Given the description of an element on the screen output the (x, y) to click on. 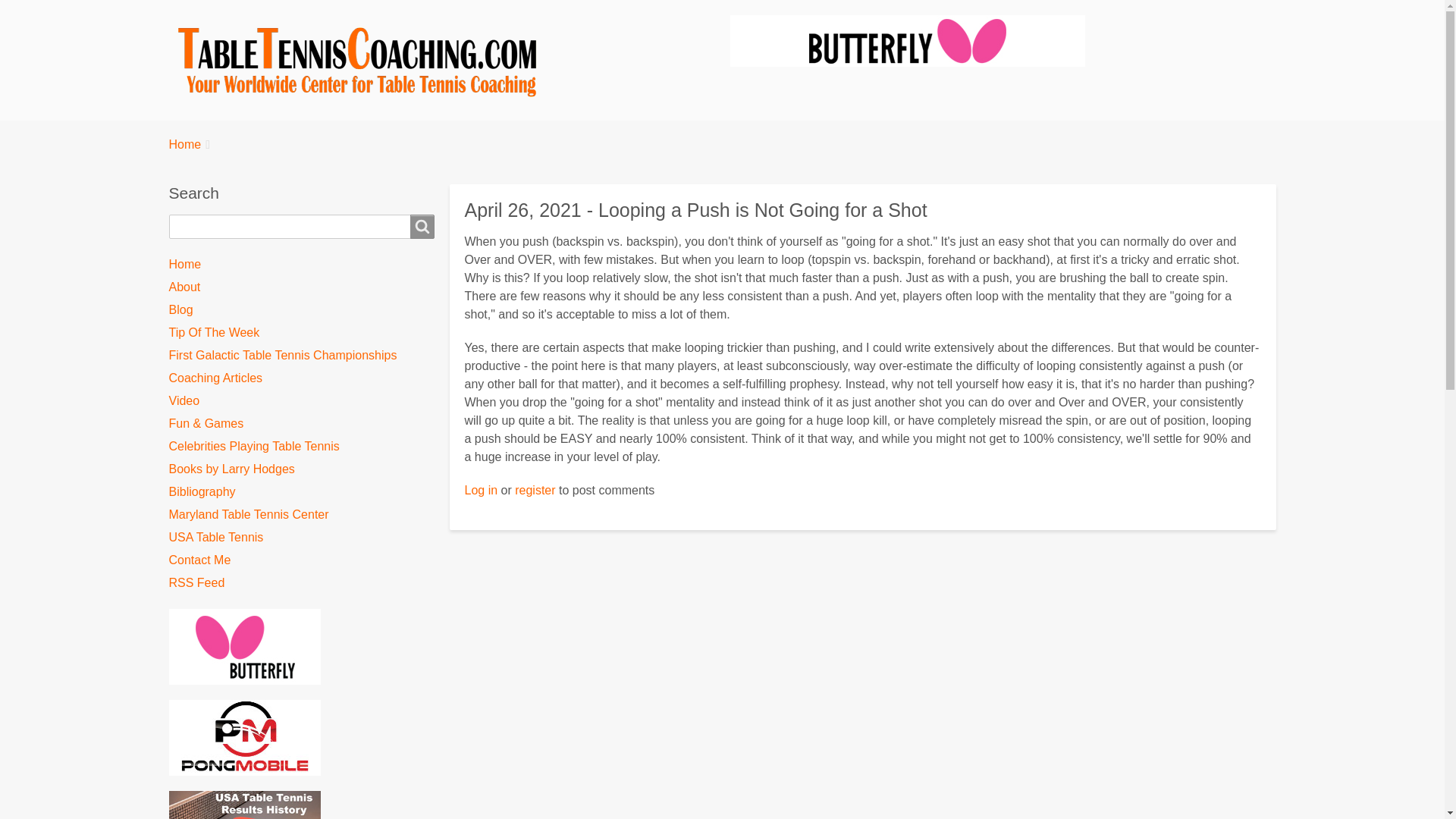
Bibliography (300, 491)
Home (363, 60)
RSS Feed (300, 582)
Books by Larry Hodges (300, 468)
Home (300, 264)
USA Table Tennis (300, 537)
Contact Me (300, 559)
Home (184, 144)
Blog (300, 310)
Maryland Table Tennis Center (300, 514)
Search (421, 226)
Search (421, 226)
Log in (480, 490)
Search (421, 226)
